Given the description of an element on the screen output the (x, y) to click on. 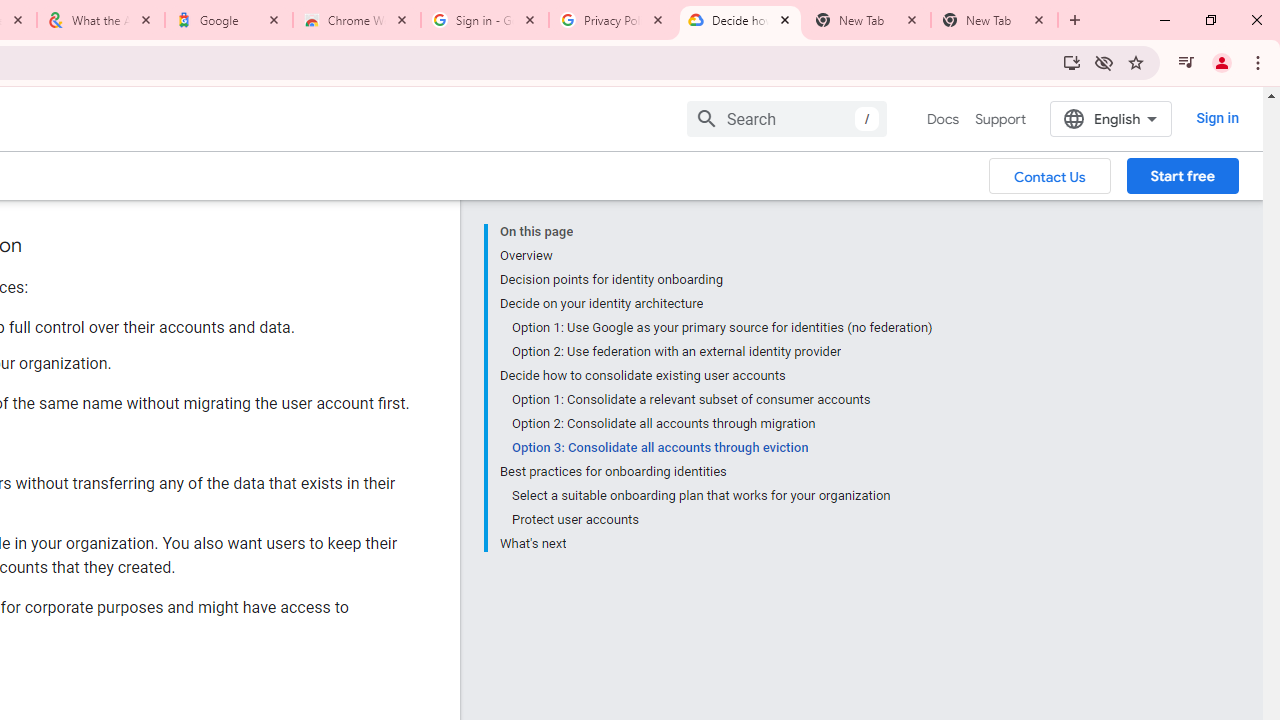
Docs, selected (942, 119)
Decide on your identity architecture (716, 304)
Sign in - Google Accounts (485, 20)
Option 3: Consolidate all accounts through eviction (721, 448)
Option 1: Consolidate a relevant subset of consumer accounts (721, 399)
Start free (1182, 175)
